Given the description of an element on the screen output the (x, y) to click on. 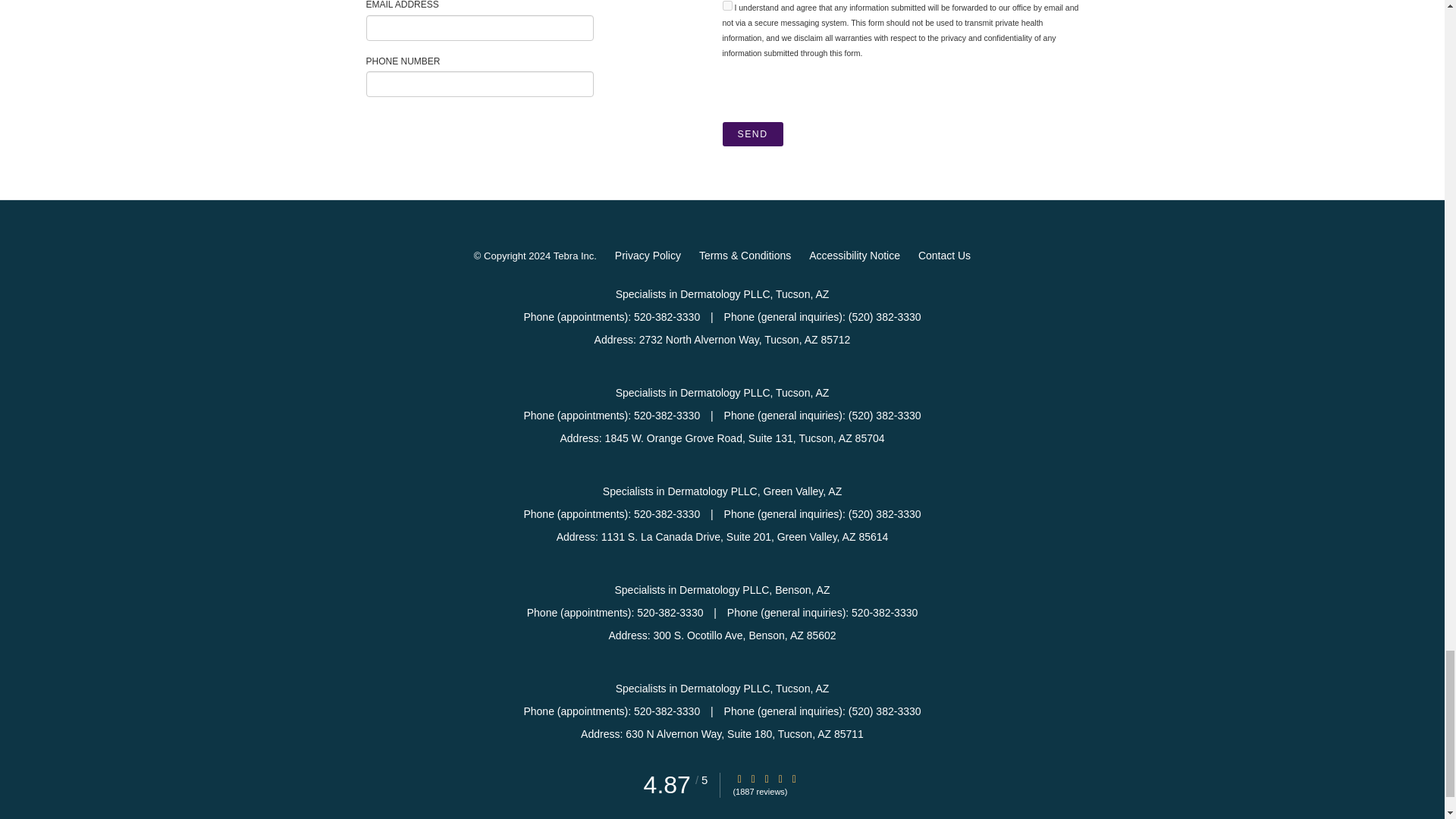
Star Rating (753, 778)
Star Rating (766, 778)
Star Rating (794, 778)
Star Rating (780, 778)
Star Rating (738, 778)
on (727, 5)
